Given the description of an element on the screen output the (x, y) to click on. 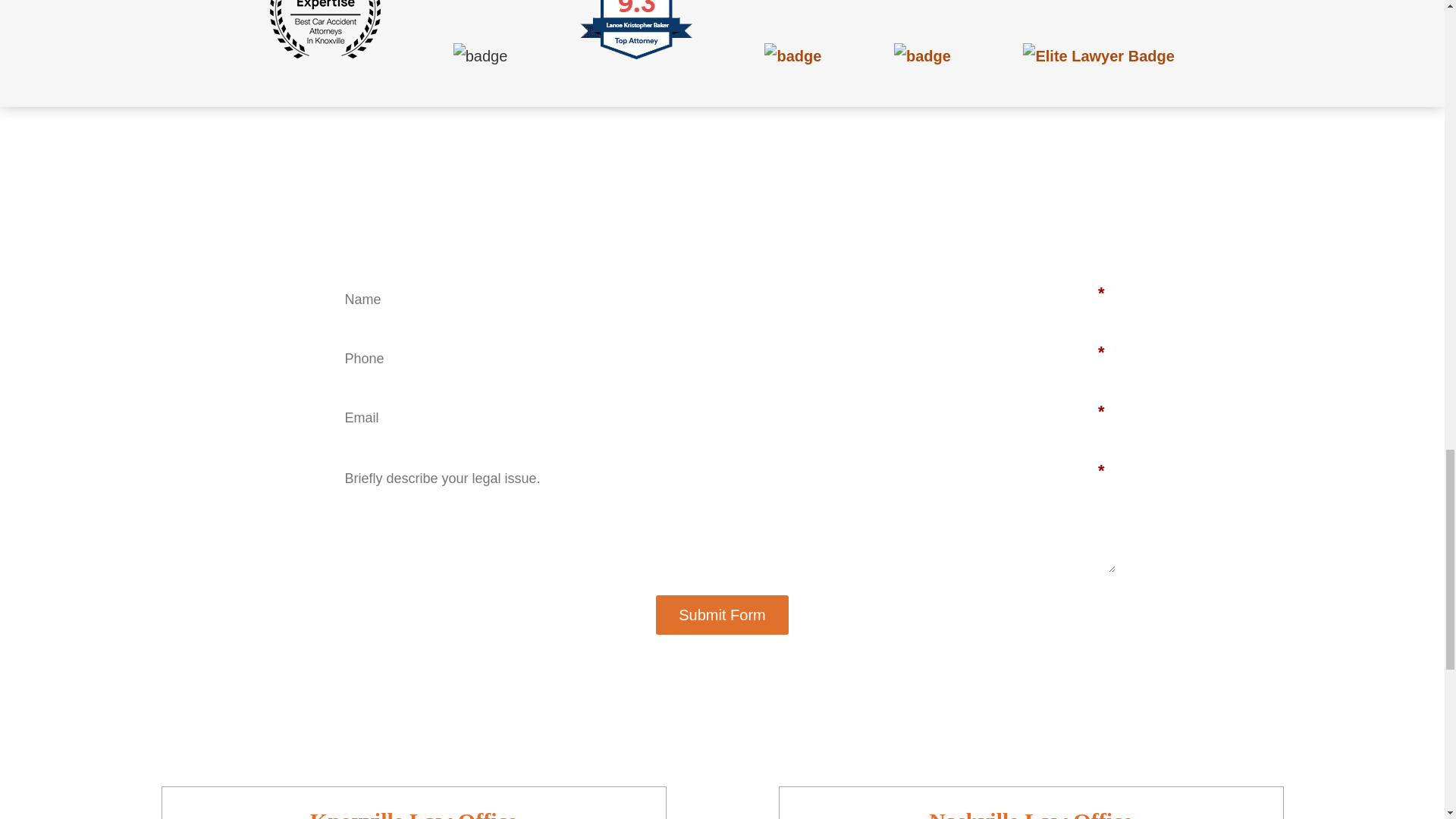
View Profile (1098, 55)
